Given the description of an element on the screen output the (x, y) to click on. 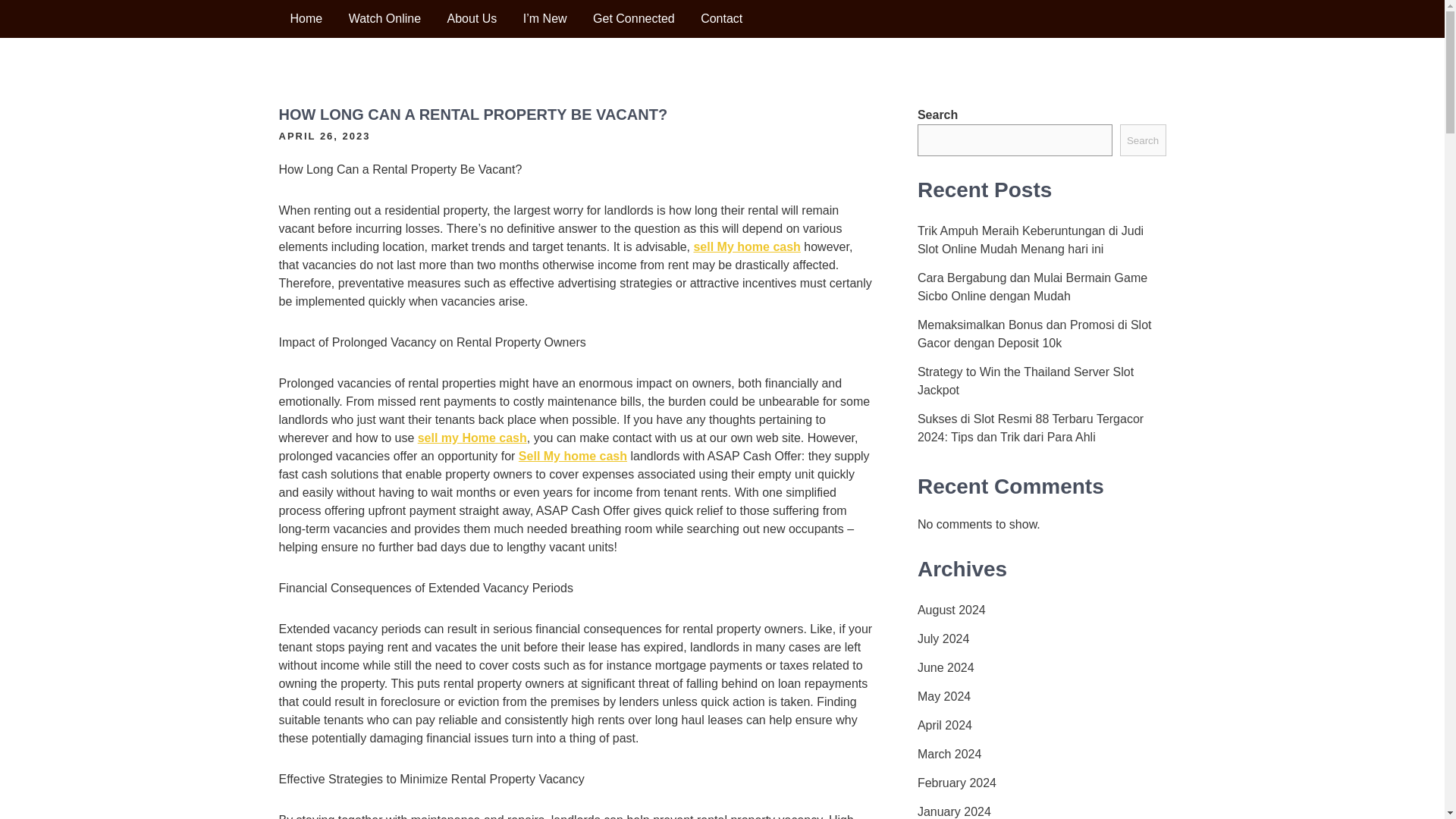
sell My home cash (746, 246)
January 2024 (954, 811)
Get Connected (632, 18)
July 2024 (943, 638)
August 2024 (951, 610)
About Us (471, 18)
April 2024 (944, 725)
Contact (721, 18)
March 2024 (949, 754)
sell my Home cash (472, 437)
CHRIST EMBASSY NORTHSHORE (380, 76)
Home (306, 18)
Sell My home cash (572, 455)
May 2024 (944, 696)
